Given the description of an element on the screen output the (x, y) to click on. 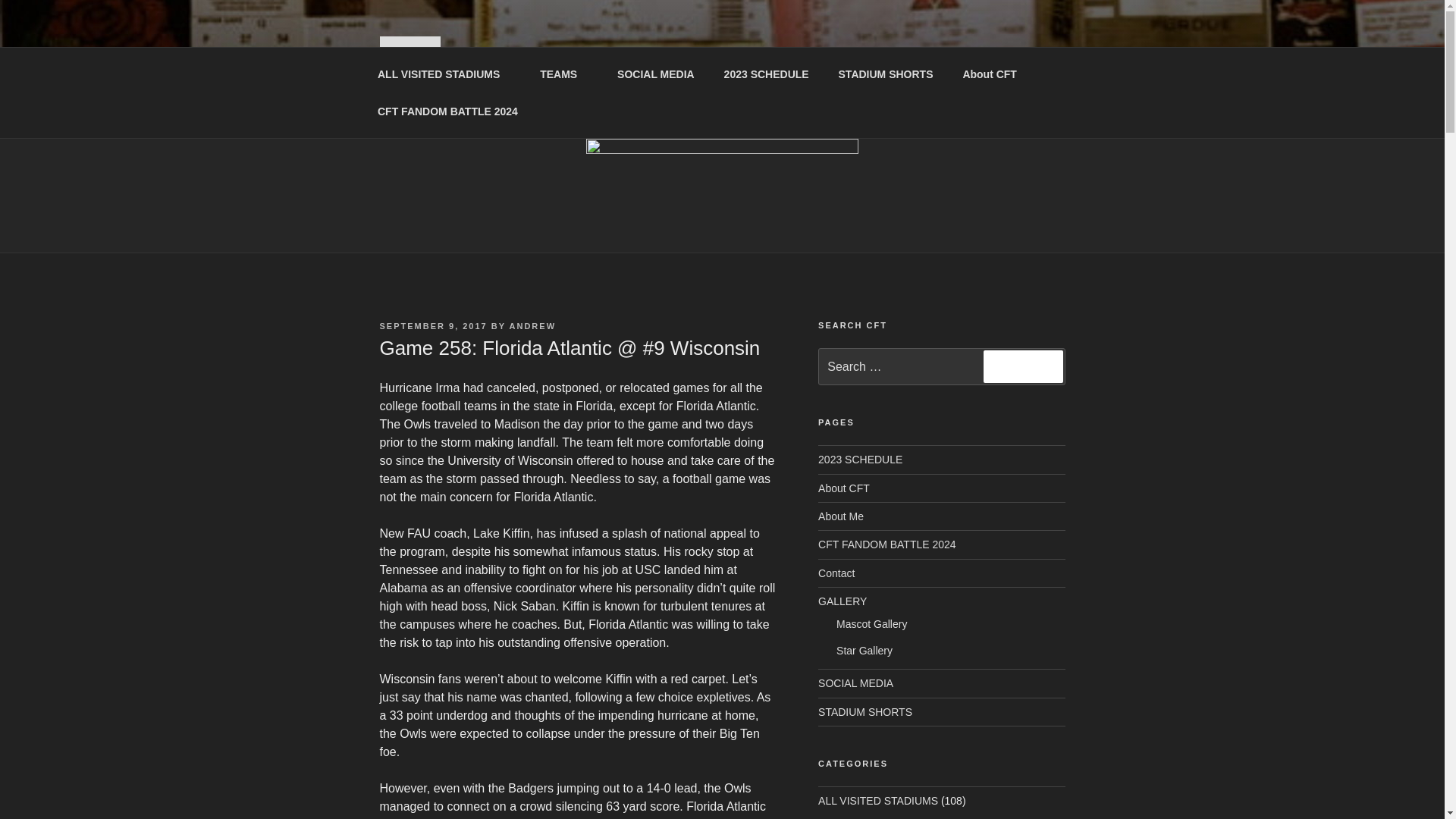
ALL VISITED STADIUMS (443, 74)
TEAMS (564, 74)
